Given the description of an element on the screen output the (x, y) to click on. 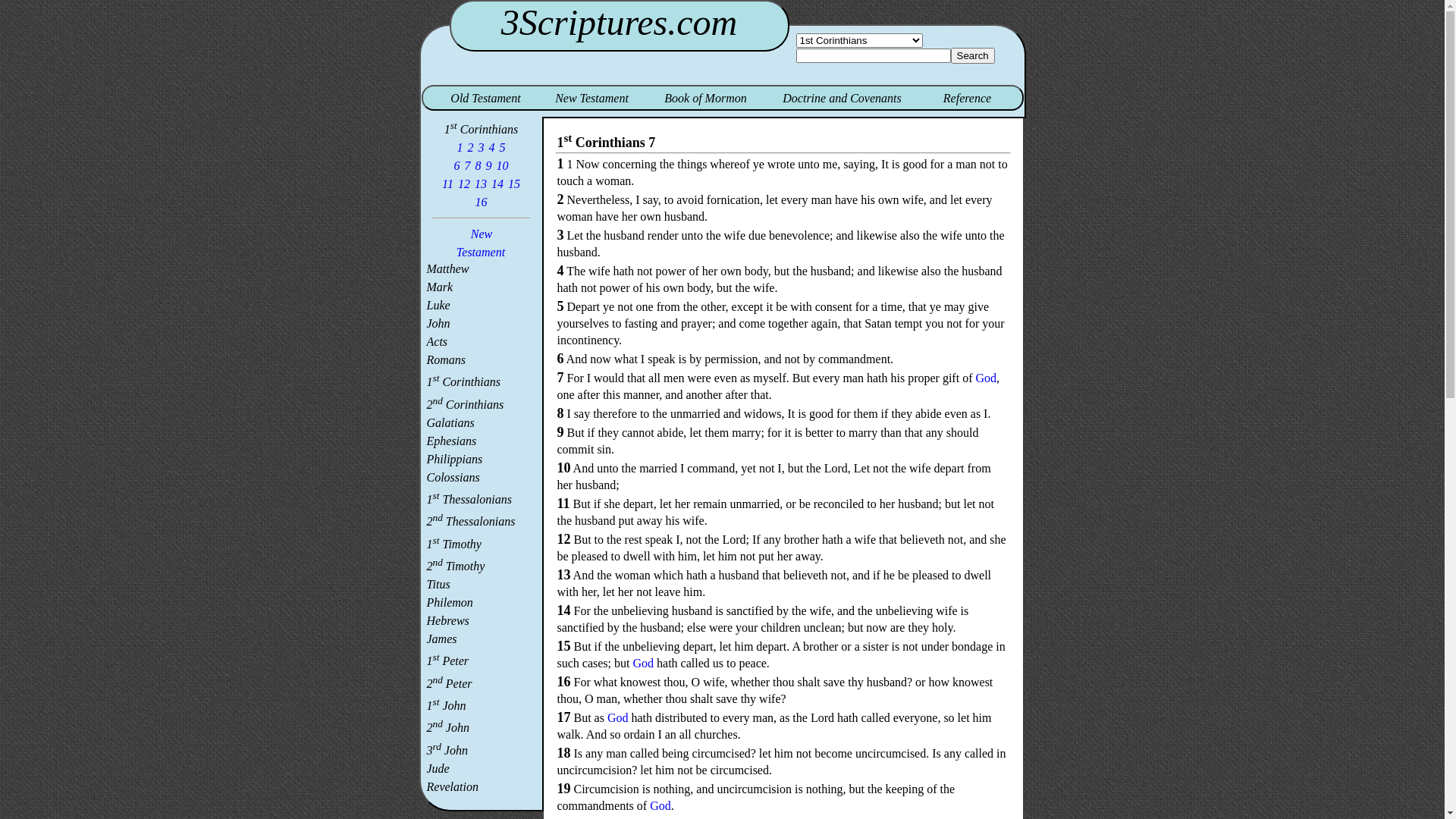
1 Element type: text (460, 147)
11 Element type: text (447, 183)
God Element type: text (642, 662)
7 Element type: text (467, 165)
5 Element type: text (502, 147)
2 Element type: text (470, 147)
Search Element type: text (972, 55)
15 Element type: text (513, 183)
6 Element type: text (457, 165)
4 Element type: text (491, 147)
10 Element type: text (502, 165)
16 Element type: text (481, 201)
New
Testament Element type: text (480, 242)
14 Element type: text (497, 183)
God Element type: text (617, 717)
3 Element type: text (481, 147)
3Scriptures.com Element type: text (619, 22)
God Element type: text (985, 377)
God Element type: text (660, 805)
12 Element type: text (463, 183)
13 Element type: text (480, 183)
8 Element type: text (478, 165)
9 Element type: text (488, 165)
